Given the description of an element on the screen output the (x, y) to click on. 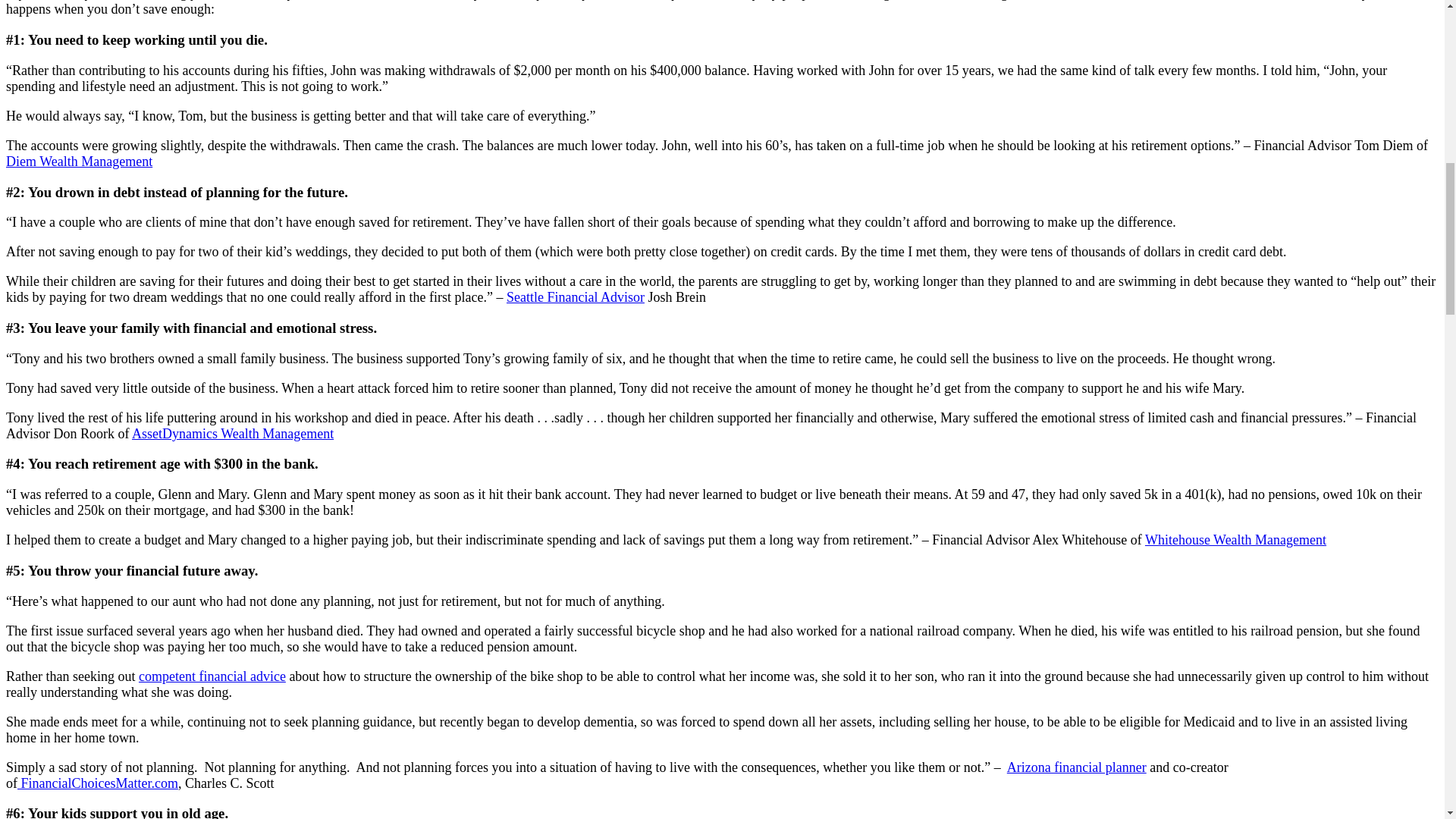
Diem Wealth Management (78, 160)
 FinancialChoicesMatter.com (97, 783)
competent financial advice (211, 676)
AssetDynamics Wealth Management (232, 433)
Whitehouse Wealth Management (1235, 539)
Arizona financial planner (1077, 767)
Seattle Financial Advisor (575, 296)
